Given the description of an element on the screen output the (x, y) to click on. 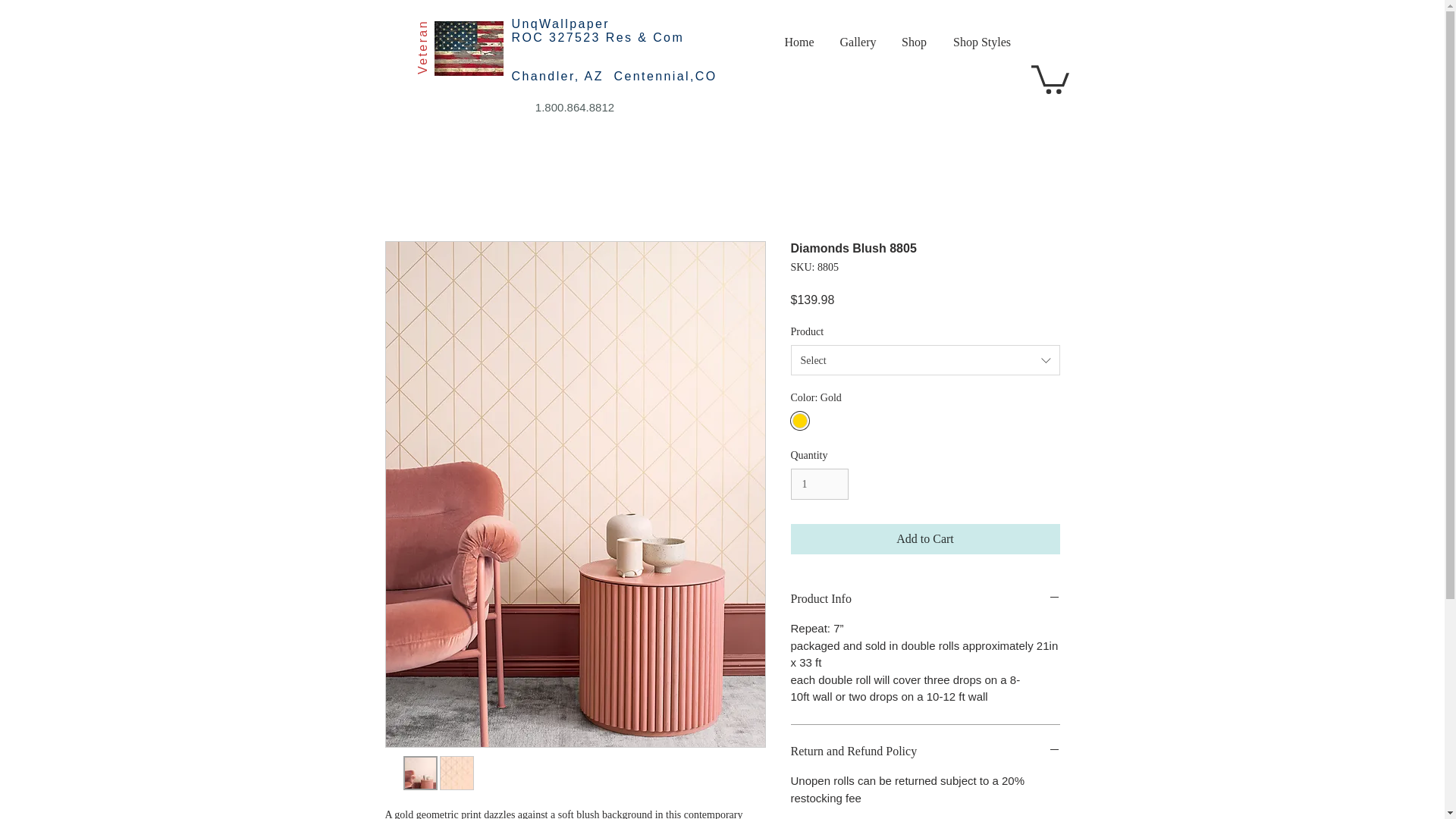
Home (799, 42)
1.800.864.8812 (575, 107)
Return and Refund Policy (924, 751)
Add to Cart (924, 539)
Select (924, 359)
Gallery (857, 42)
Shop (913, 42)
1 (818, 483)
Product Info (924, 598)
